Given the description of an element on the screen output the (x, y) to click on. 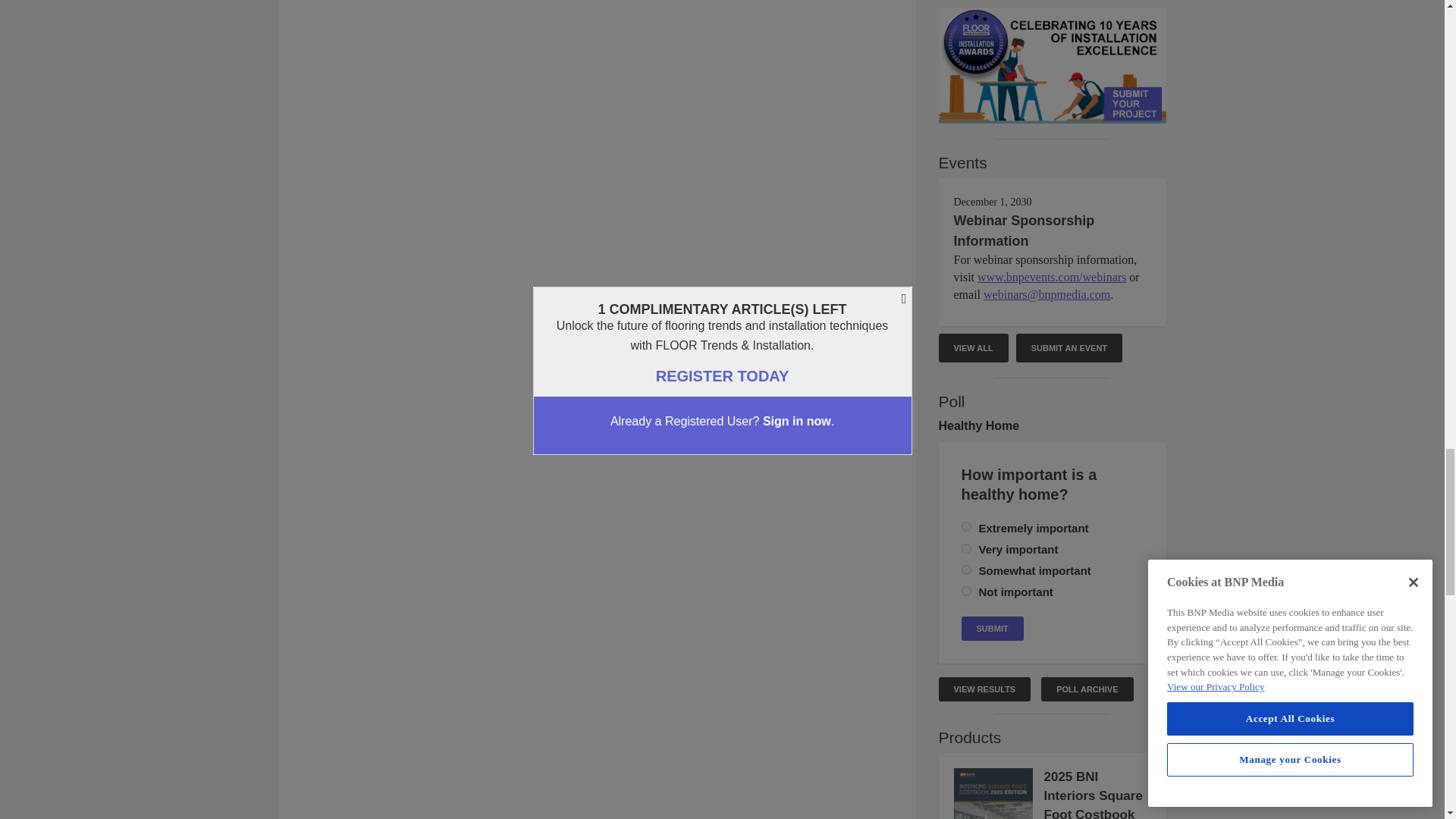
339 (965, 548)
Submit (991, 628)
340 (965, 591)
341 (965, 569)
Webinar Sponsorship Information (1023, 230)
338 (965, 526)
